Given the description of an element on the screen output the (x, y) to click on. 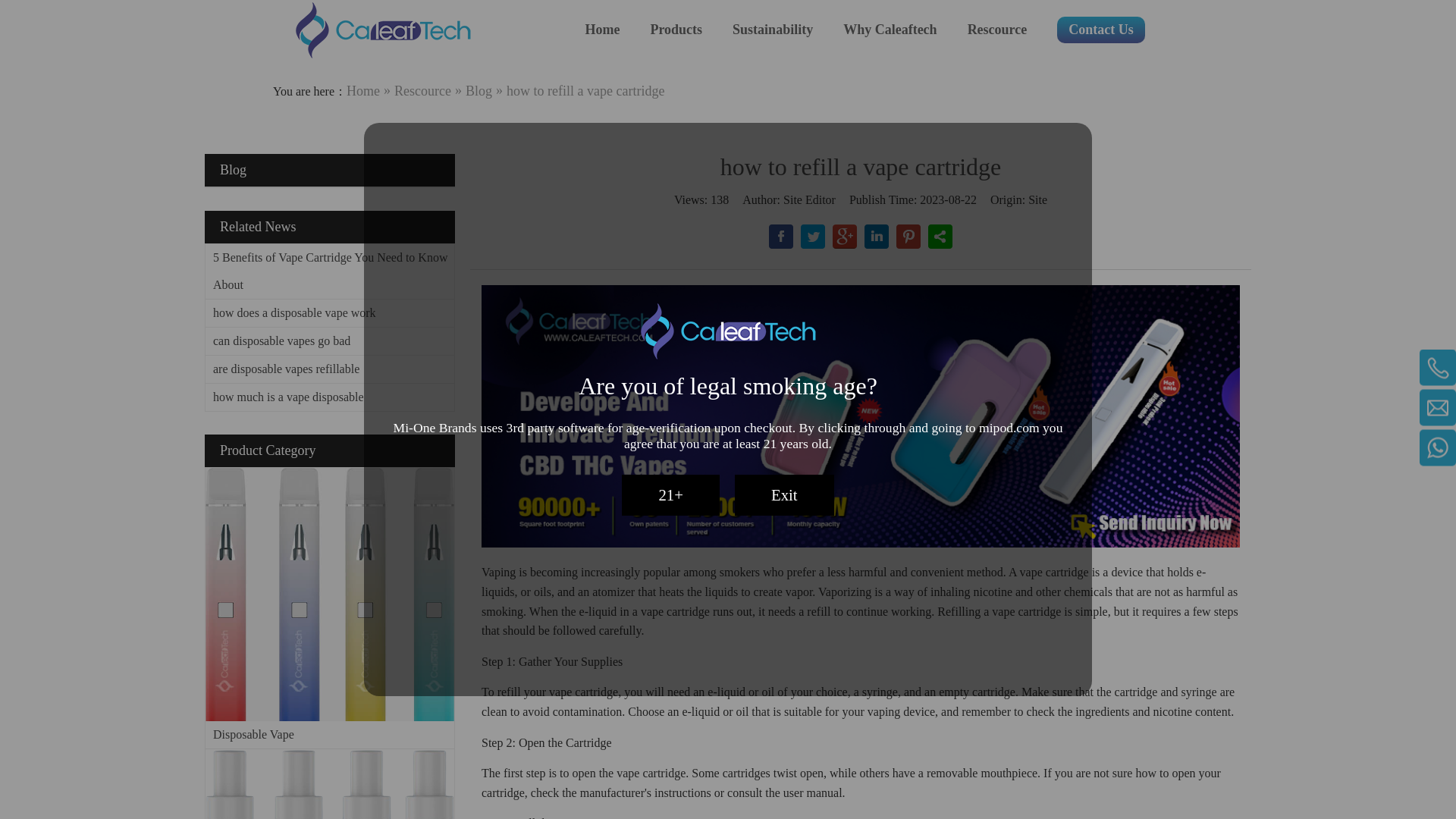
Sustainability (772, 30)
Products (675, 30)
Rescource (997, 30)
Home (602, 30)
Contact Us (1100, 29)
Vape Cartridge (329, 784)
Disposable Vape (329, 593)
Caleaftech (382, 30)
Why Caleaftech (889, 30)
